Given the description of an element on the screen output the (x, y) to click on. 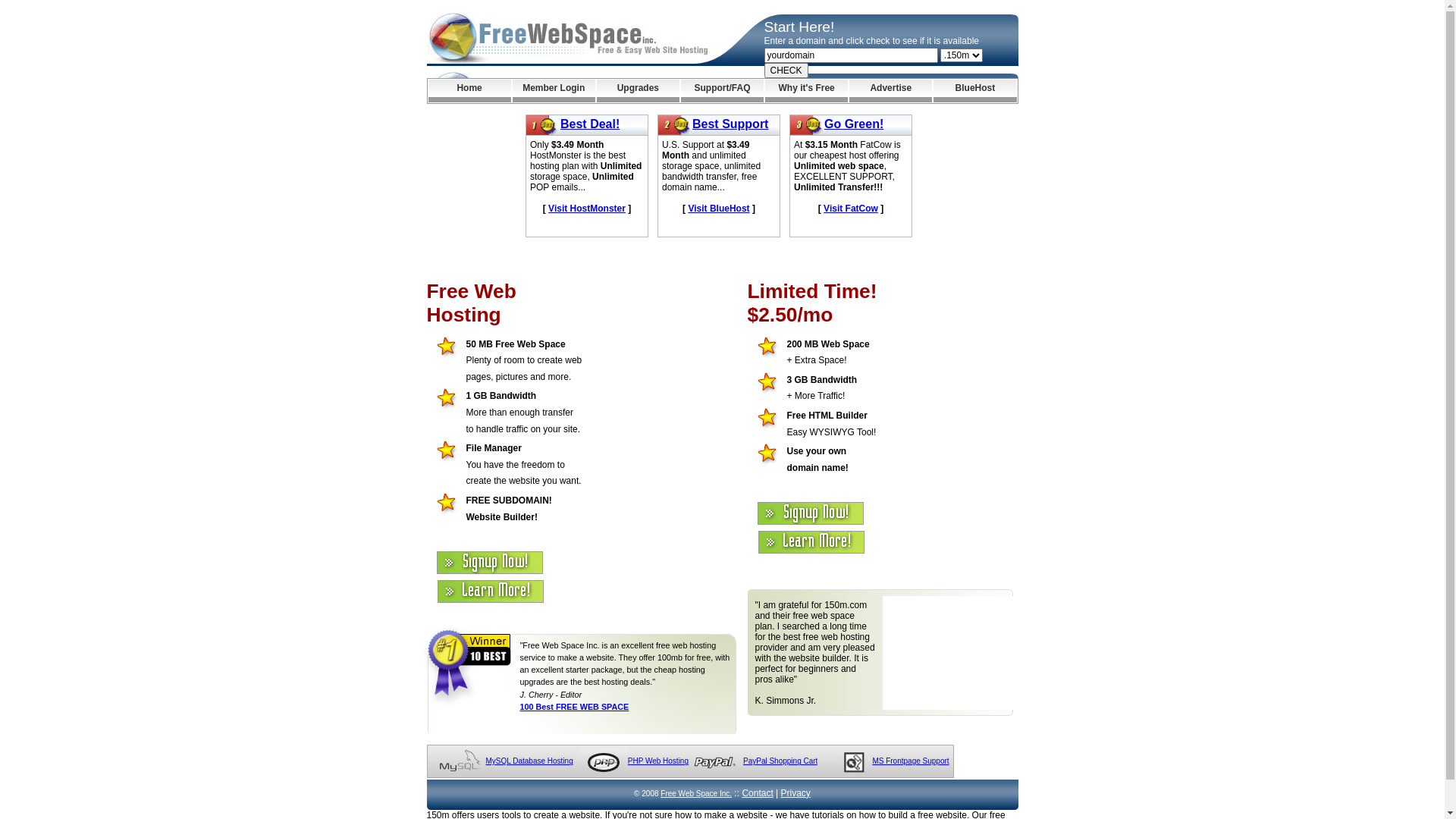
100 Best FREE WEB SPACE Element type: text (574, 706)
Privacy Element type: text (795, 792)
Upgrades Element type: text (637, 90)
Home Element type: text (468, 90)
MySQL Database Hosting Element type: text (528, 760)
Member Login Element type: text (553, 90)
Advertise Element type: text (890, 90)
MS Frontpage Support Element type: text (910, 760)
Support/FAQ Element type: text (721, 90)
PayPal Shopping Cart Element type: text (780, 760)
Why it's Free Element type: text (806, 90)
PHP Web Hosting Element type: text (657, 760)
BlueHost Element type: text (974, 90)
CHECK Element type: text (786, 70)
Contact Element type: text (756, 792)
Free Web Space Inc. Element type: text (695, 793)
